Given the description of an element on the screen output the (x, y) to click on. 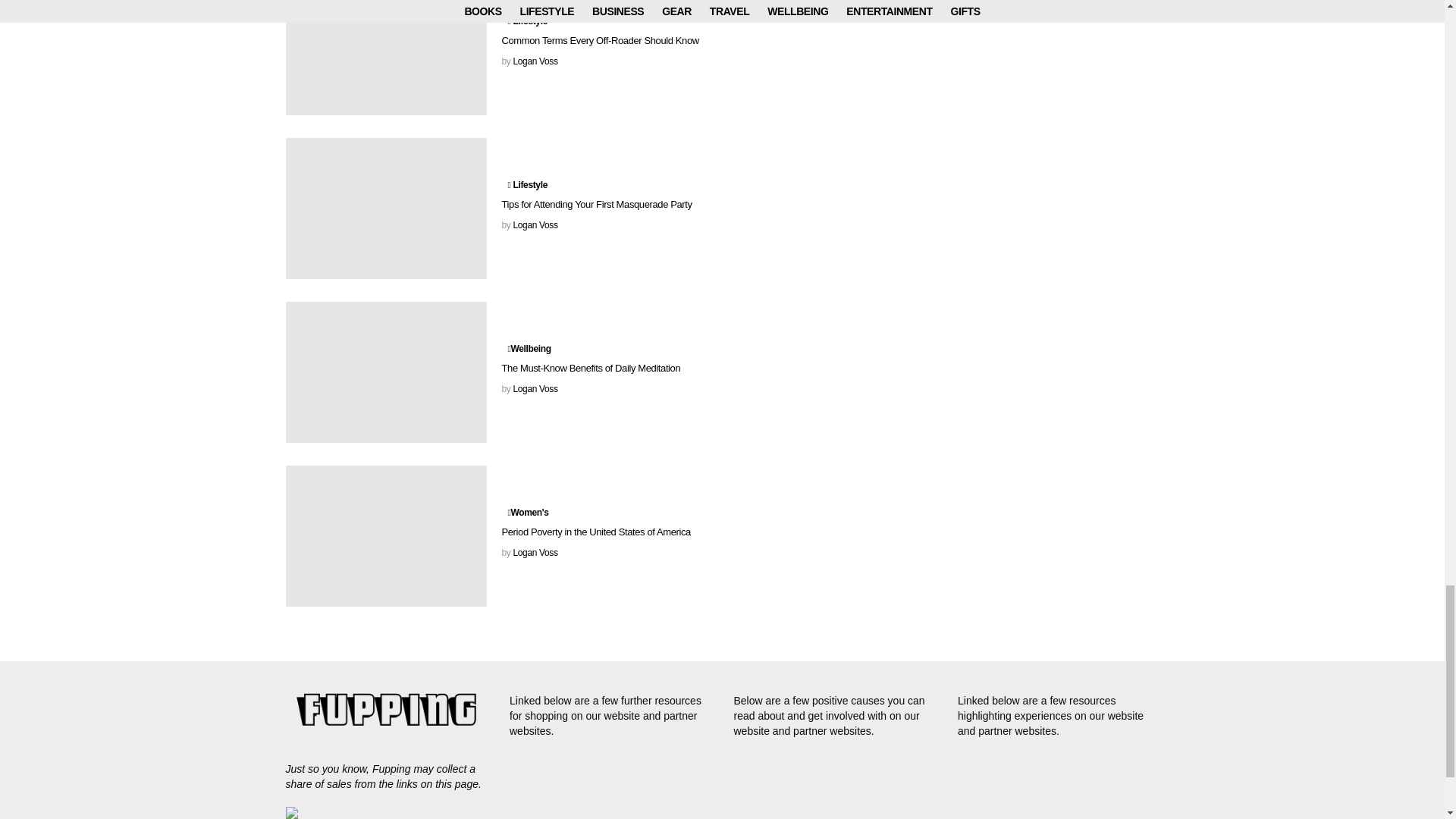
Posts by Logan Voss (534, 61)
Posts by Logan Voss (534, 388)
Posts by Logan Voss (534, 225)
Tips for Attending Your First Masquerade Party (385, 208)
The Must-Know Benefits of Daily Meditation (385, 372)
Posts by Logan Voss (534, 552)
Common Terms Every Off-Roader Should Know (385, 57)
Period Poverty in the United States of America (385, 536)
